Given the description of an element on the screen output the (x, y) to click on. 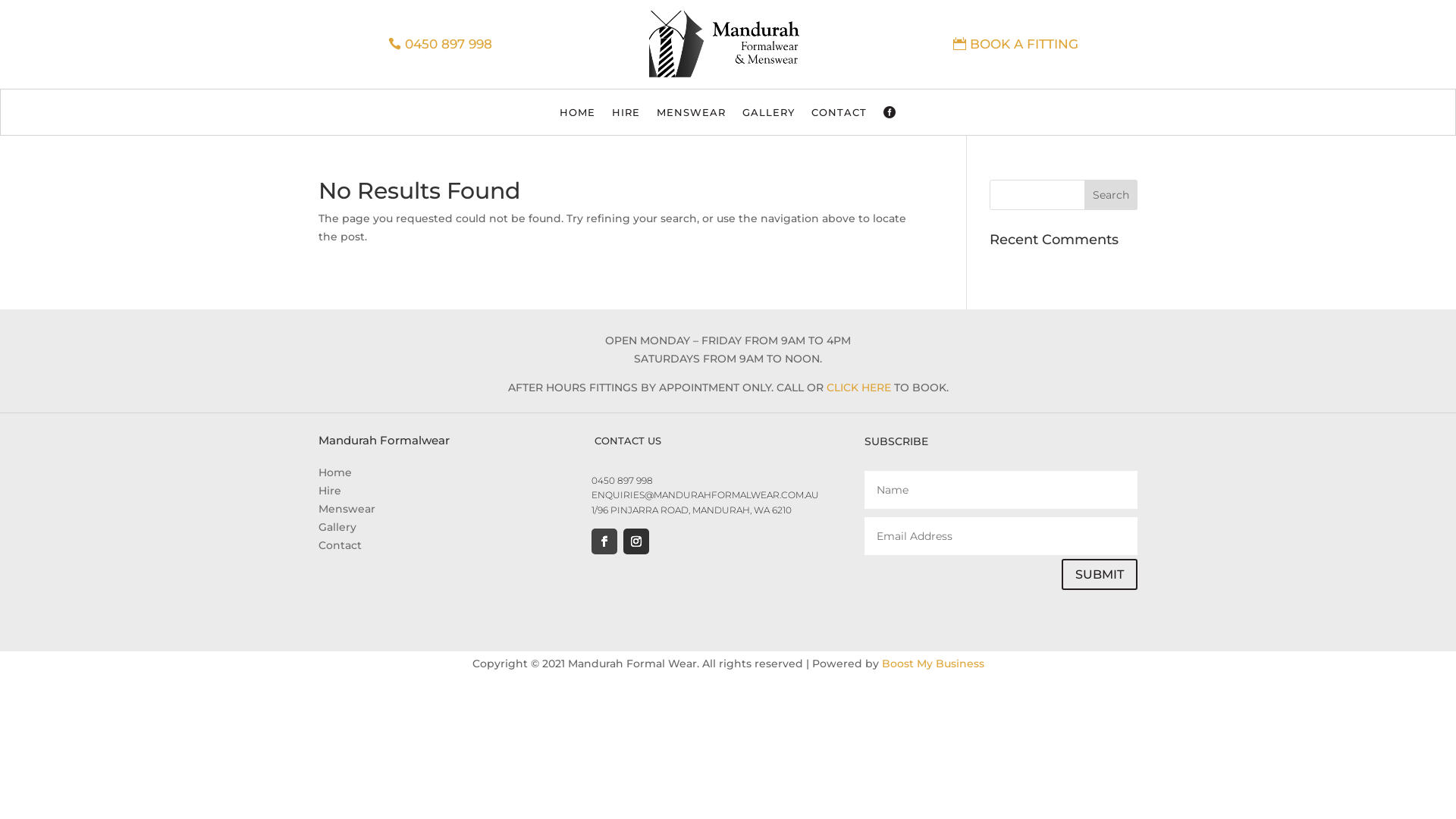
Search Element type: text (1110, 194)
GALLERY Element type: text (768, 114)
SUBMIT Element type: text (1099, 573)
0450 897 998 Element type: text (439, 44)
Boost My Business Element type: text (932, 663)
MENSWEAR Element type: text (690, 114)
Follow on Facebook Element type: hover (604, 541)
Contact Element type: text (339, 545)
Gallery Element type: text (337, 526)
1/96 PINJARRA ROAD, MANDURAH, WA 6210 Element type: text (691, 509)
Hire Element type: text (329, 490)
Follow on Instagram Element type: hover (636, 541)
ENQUIRIES@MANDURAHFORMALWEAR.COM.AU Element type: text (705, 494)
Home Element type: text (334, 472)
CLICK HERE Element type: text (858, 387)
0450 897 998 Element type: text (621, 480)
HIRE Element type: text (625, 114)
CONTACT Element type: text (838, 114)
Mandurah-Logo-white-bg-black-text-no-URL-01-1-1024x512 Element type: hover (727, 43)
Menswear Element type: text (346, 508)
HOME Element type: text (577, 114)
BOOK A FITTING Element type: text (1015, 44)
